Given the description of an element on the screen output the (x, y) to click on. 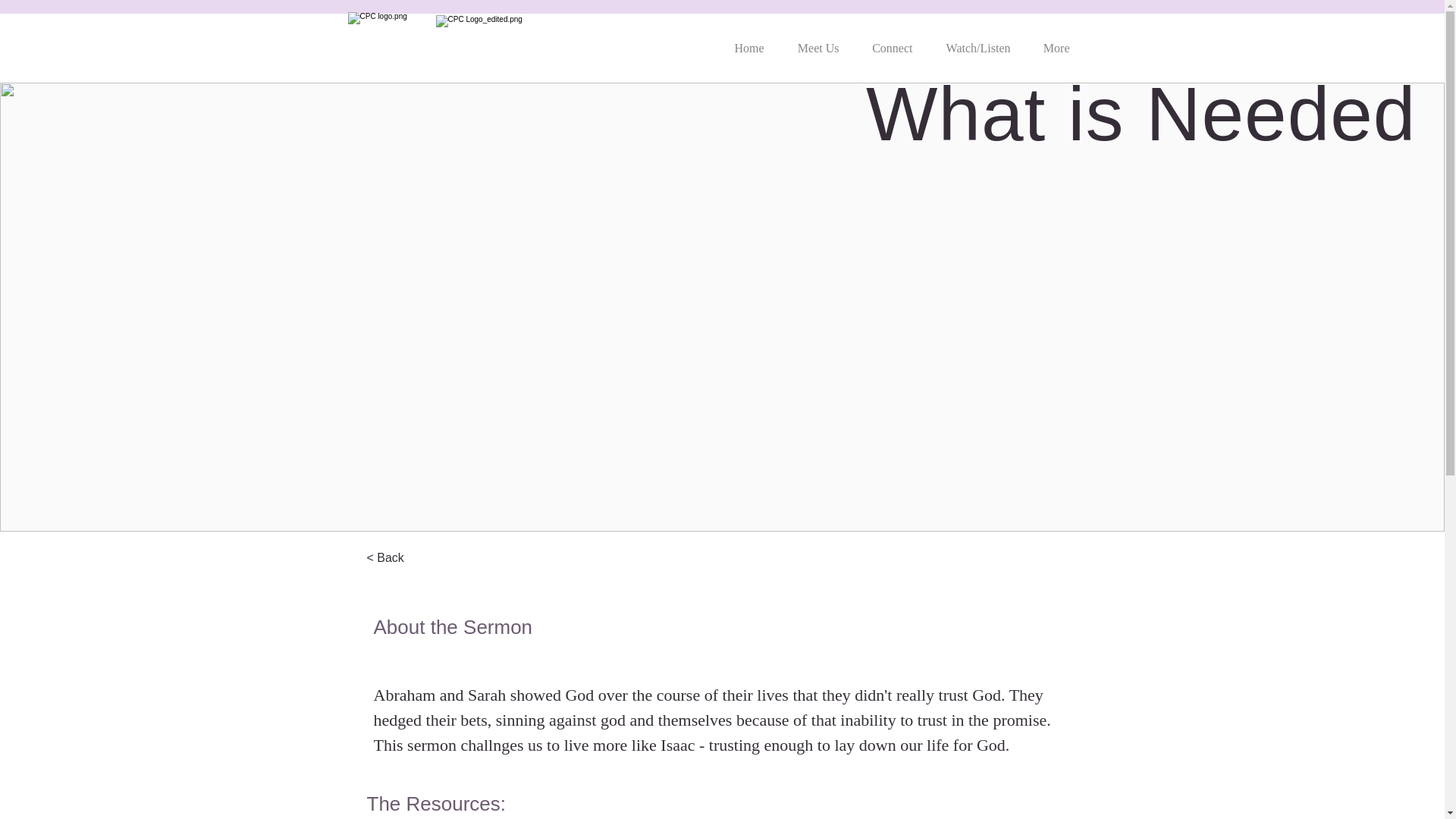
Connect (888, 41)
Meet Us (815, 41)
Home (745, 41)
